Given the description of an element on the screen output the (x, y) to click on. 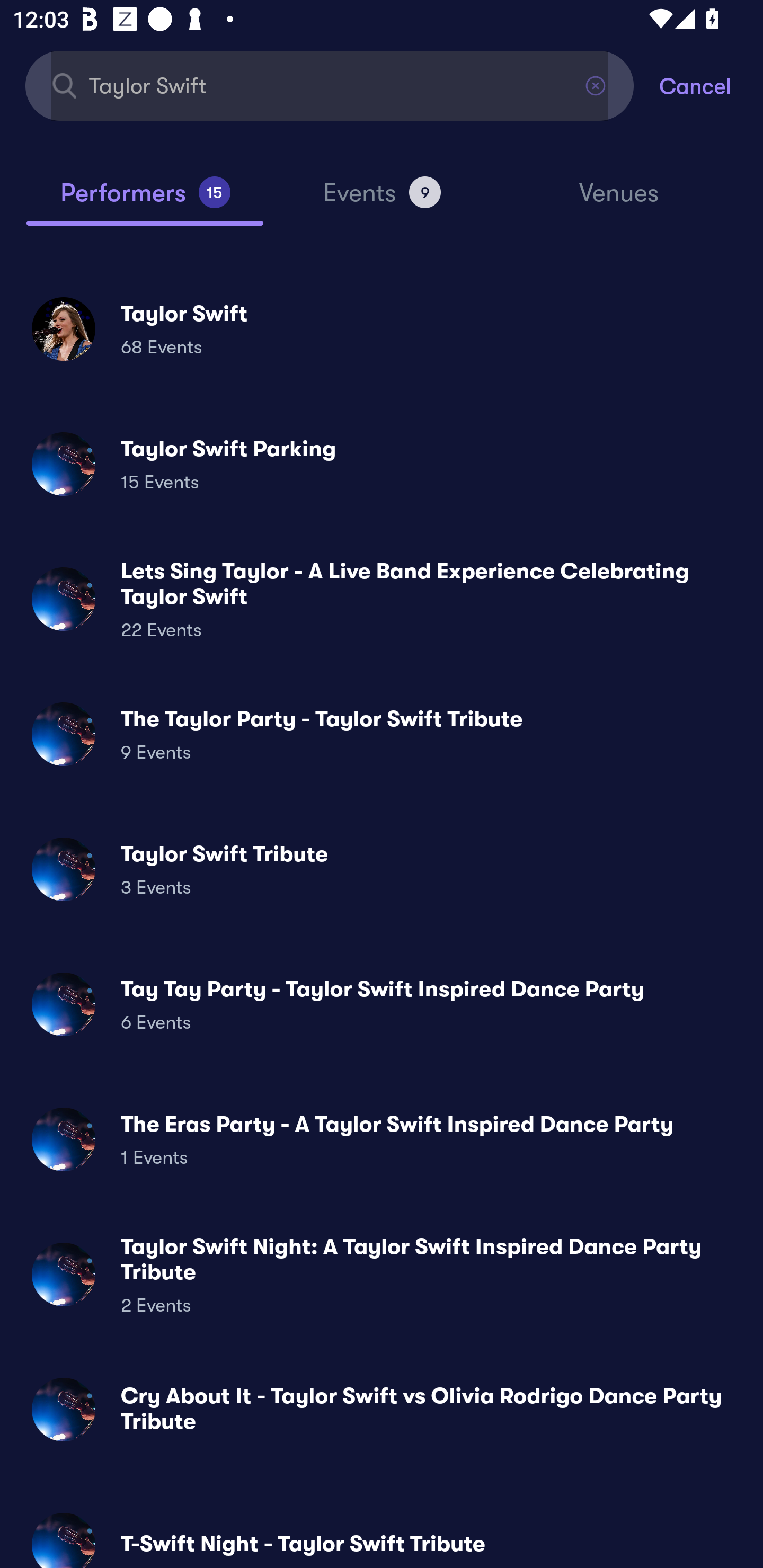
Taylor Swift Find (329, 85)
Taylor Swift Find (329, 85)
Cancel (711, 85)
Performers 15 (144, 200)
Events 9 (381, 200)
Venues (618, 201)
Taylor Swift 68 Events (381, 328)
Taylor Swift Parking 15 Events (381, 464)
The Taylor Party - Taylor Swift Tribute 9 Events (381, 734)
Taylor Swift Tribute 3 Events (381, 869)
T-Swift Night - Taylor Swift Tribute (381, 1532)
